Given the description of an element on the screen output the (x, y) to click on. 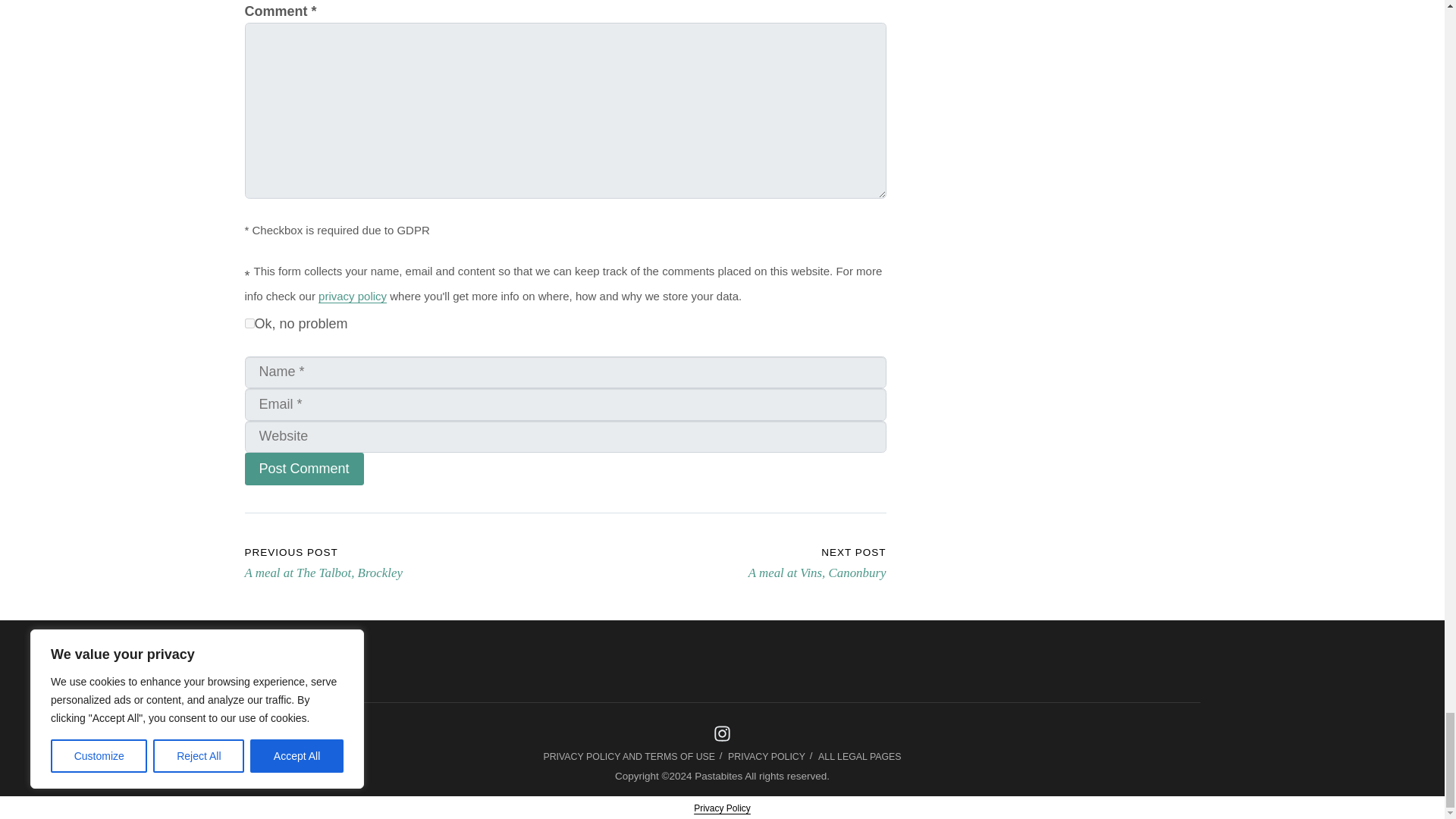
Post Comment (303, 468)
on (248, 323)
